Given the description of an element on the screen output the (x, y) to click on. 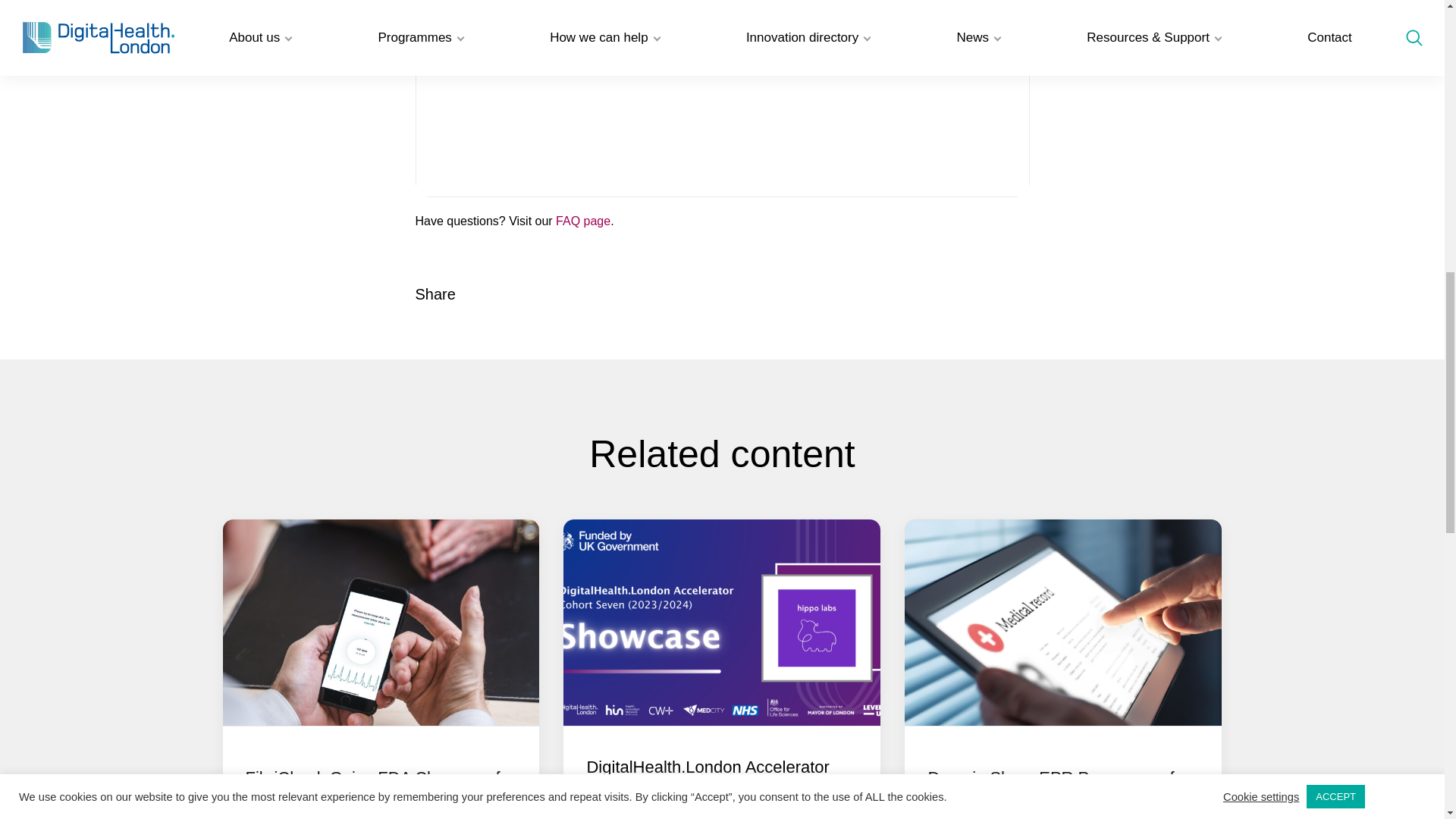
Digital Pioneer Fellowship 101 Webinar (721, 98)
FAQ page (583, 220)
